Given the description of an element on the screen output the (x, y) to click on. 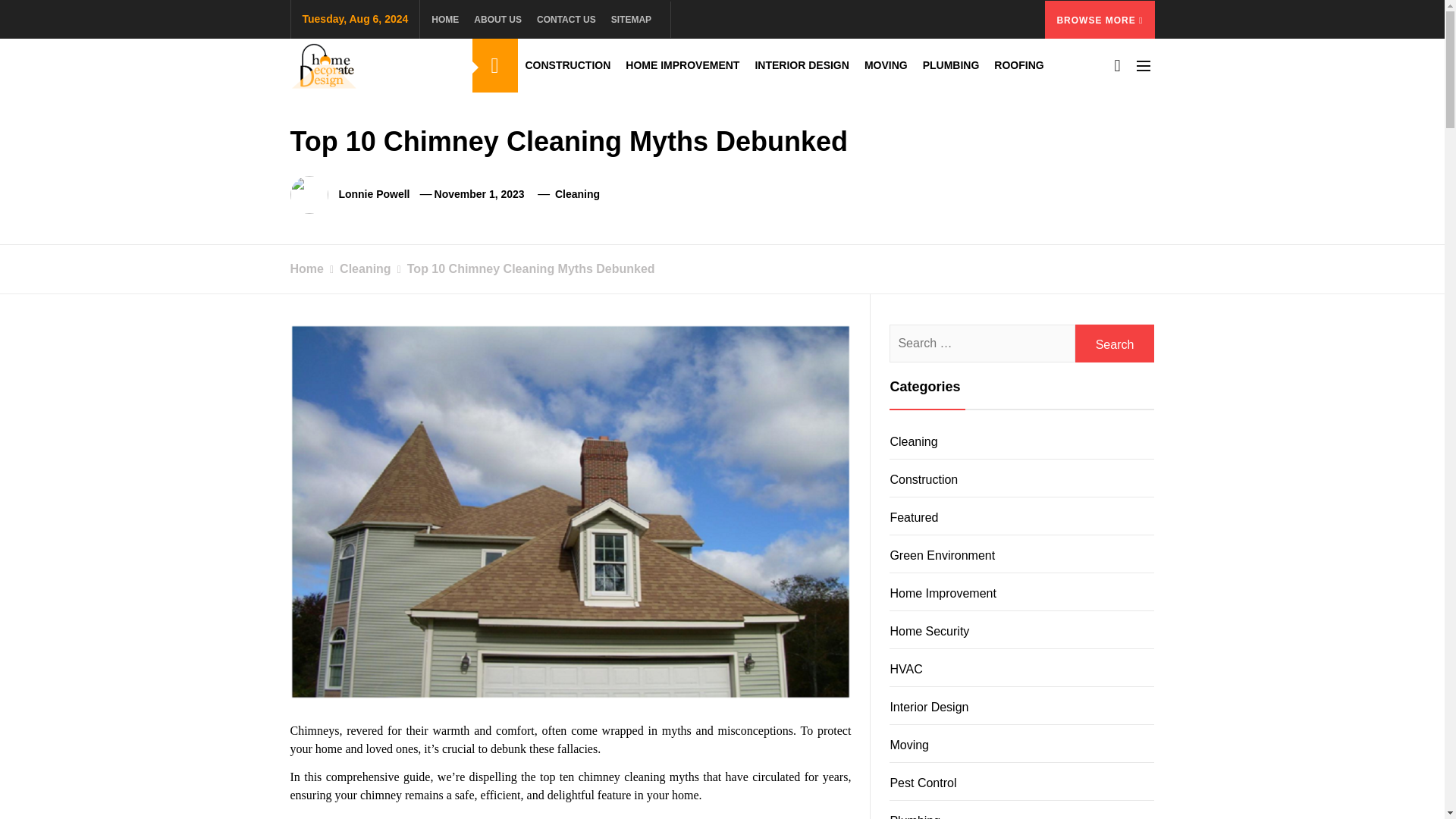
SITEMAP (631, 18)
November 1, 2023 (478, 193)
Top 10 Chimney Cleaning Myths Debunked (523, 268)
HOME (447, 18)
PLUMBING (951, 65)
Home Decorate Design (445, 105)
Search (1114, 343)
ROOFING (1019, 65)
CONTACT US (566, 18)
CONSTRUCTION (566, 65)
INTERIOR DESIGN (801, 65)
MOVING (886, 65)
Cleaning (576, 193)
BROWSE MORE (1099, 18)
Lonnie Powell (373, 193)
